Given the description of an element on the screen output the (x, y) to click on. 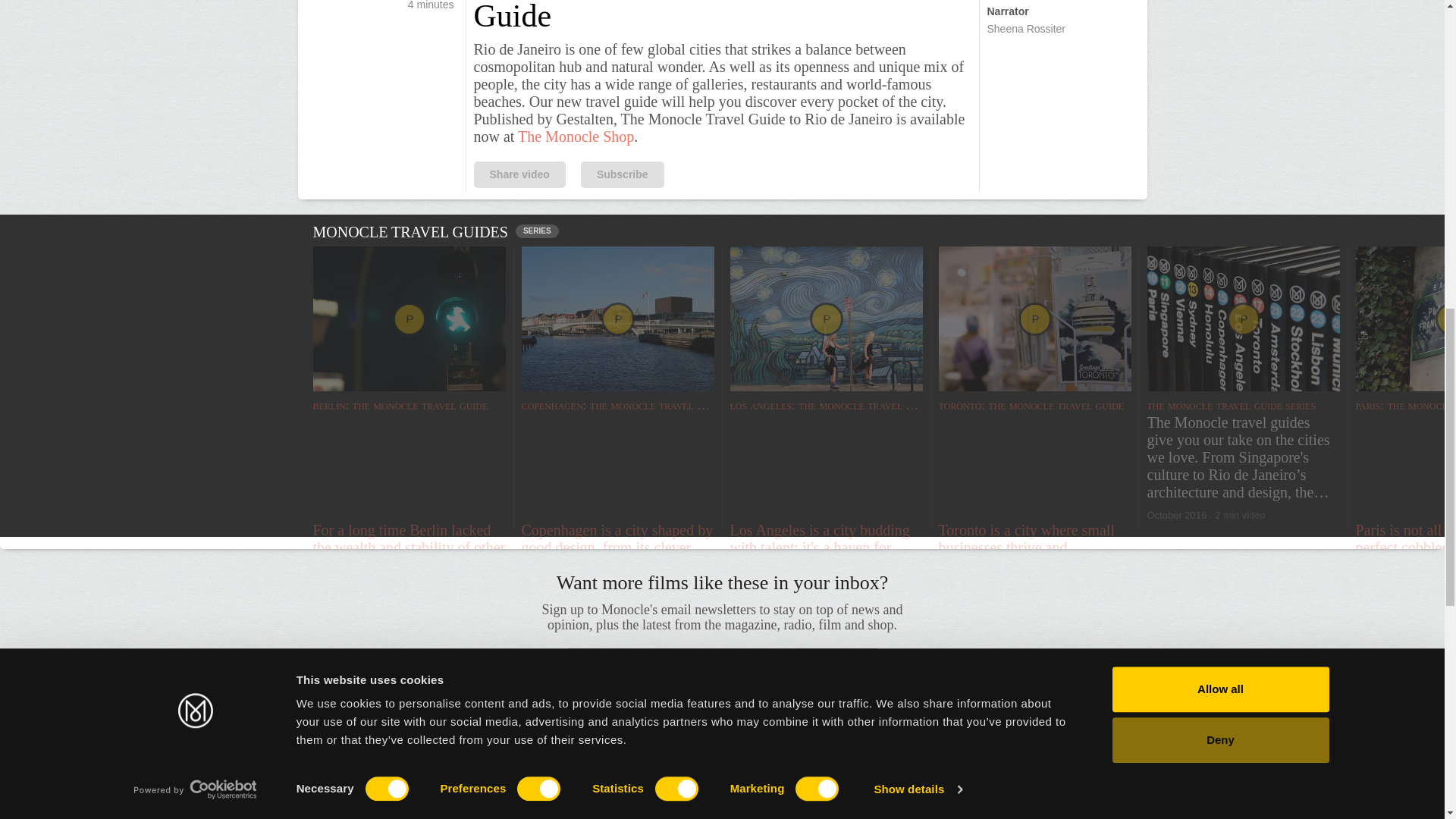
MONOCLE TRAVEL GUIDESSERIES (721, 233)
